Given the description of an element on the screen output the (x, y) to click on. 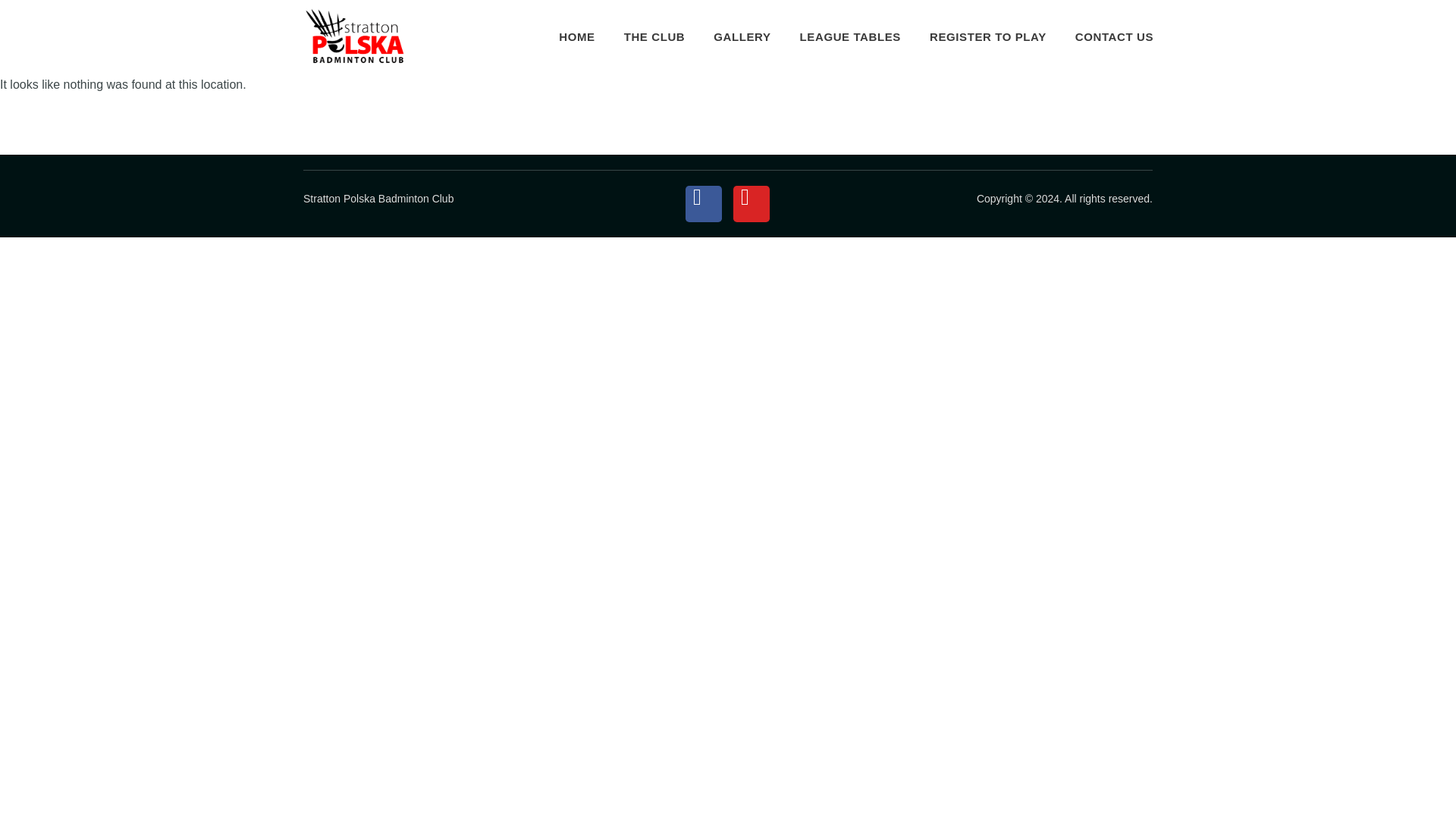
LEAGUE TABLES (850, 36)
THE CLUB (655, 36)
CONTACT US (1114, 36)
HOME (576, 36)
REGISTER TO PLAY (987, 36)
GALLERY (741, 36)
